Given the description of an element on the screen output the (x, y) to click on. 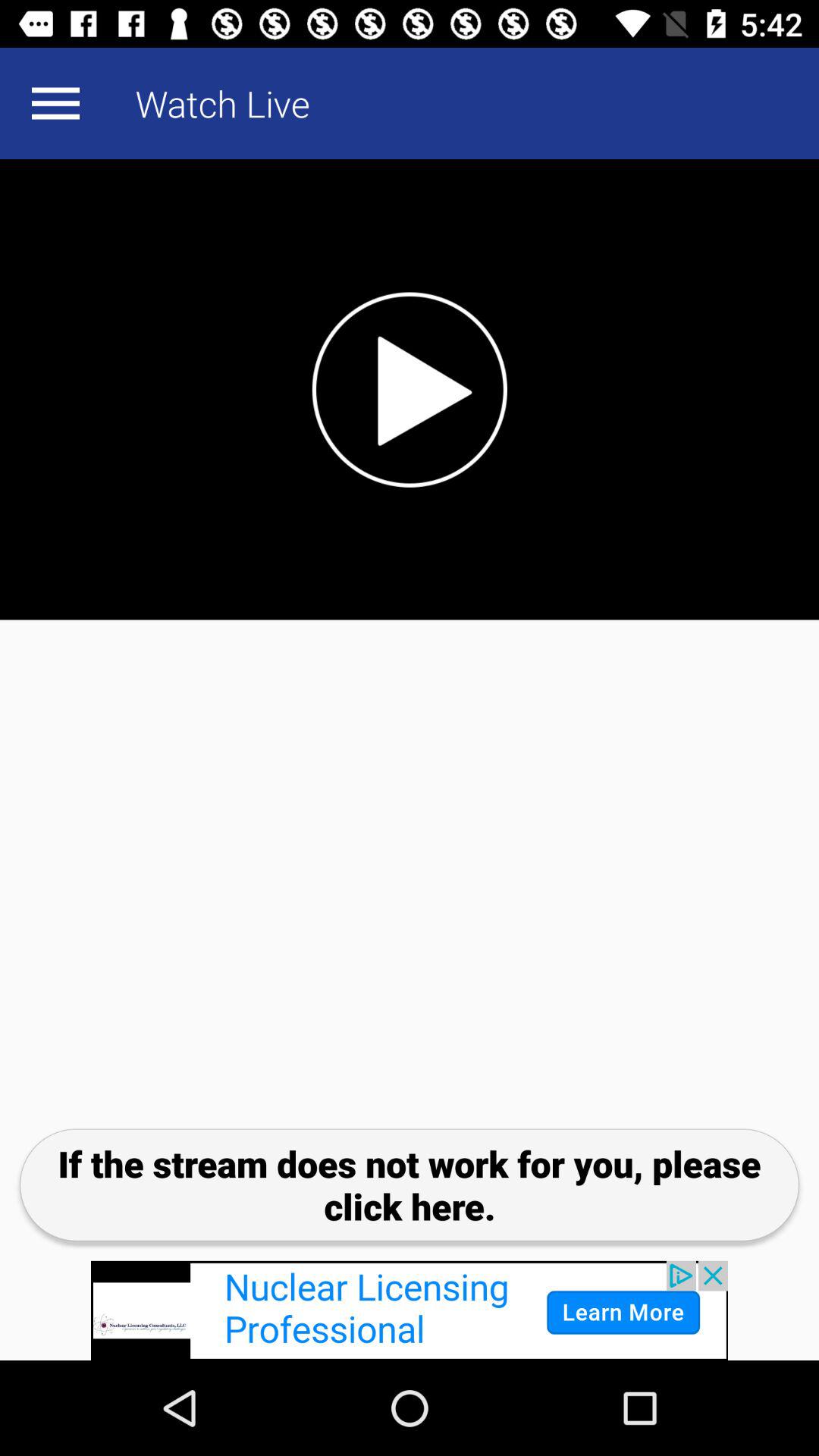
toggle menu option (55, 103)
